Given the description of an element on the screen output the (x, y) to click on. 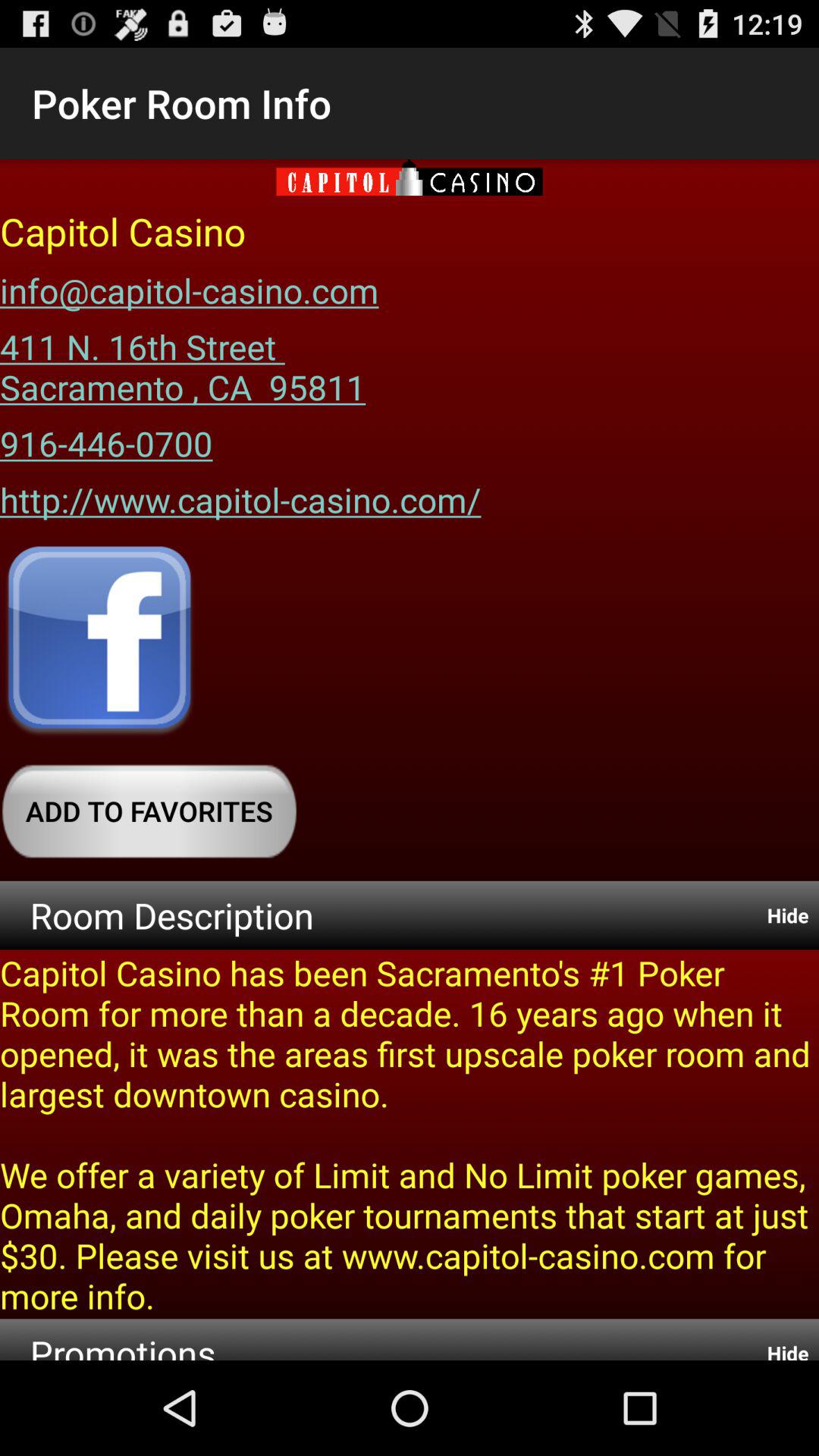
share room details on facebook (99, 641)
